Given the description of an element on the screen output the (x, y) to click on. 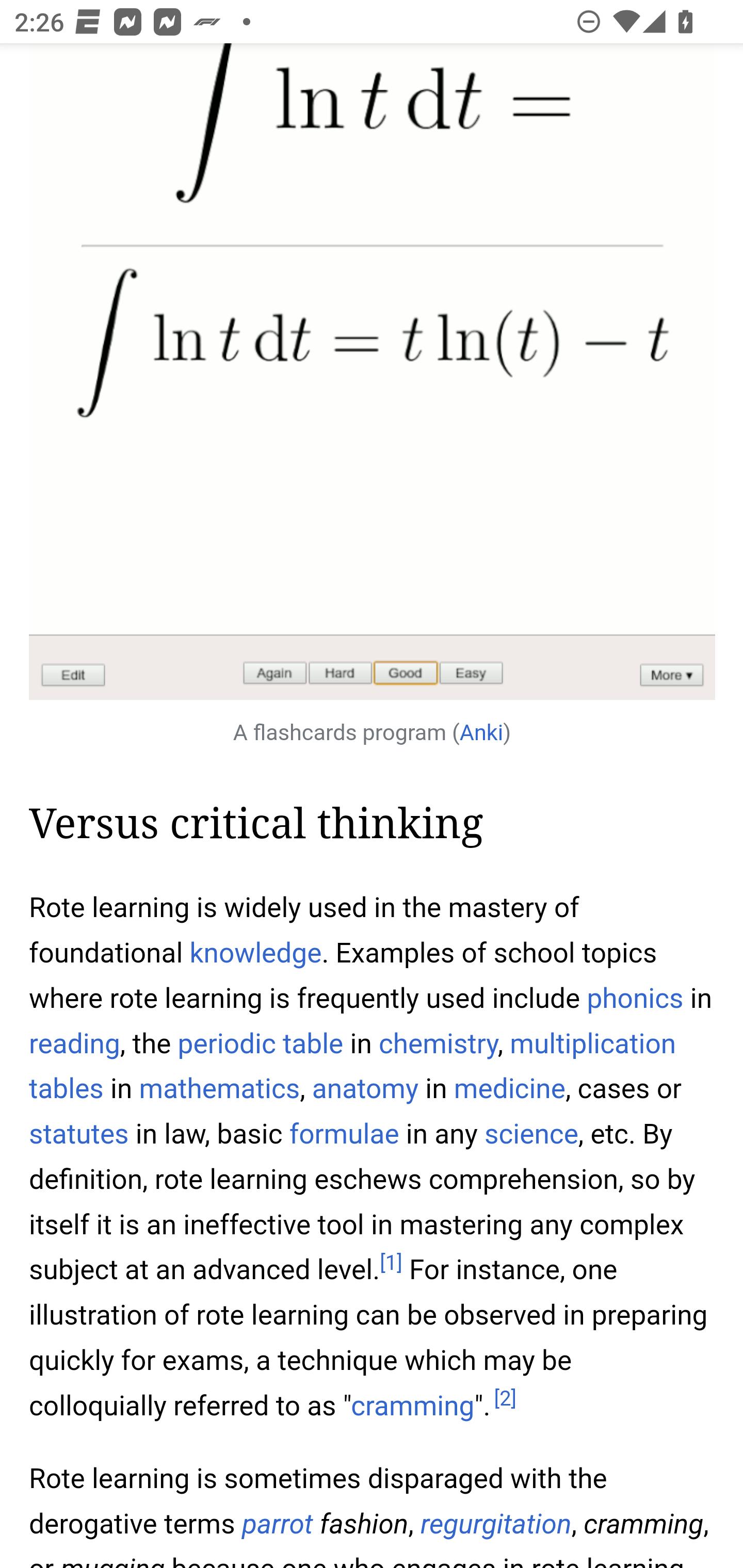
640px-Anki_flashcard_question_and_answer_math (372, 372)
Anki (480, 732)
knowledge (255, 952)
phonics (634, 998)
reading (74, 1044)
multiplication tables (352, 1067)
periodic table (260, 1044)
chemistry (437, 1044)
mathematics (219, 1089)
anatomy (365, 1089)
medicine (509, 1089)
statutes (79, 1134)
formulae (345, 1134)
science (531, 1134)
[] [ 1 ] (390, 1262)
[] [ 2 ] (504, 1398)
cramming (412, 1404)
parrot (276, 1523)
regurgitation (495, 1523)
